Given the description of an element on the screen output the (x, y) to click on. 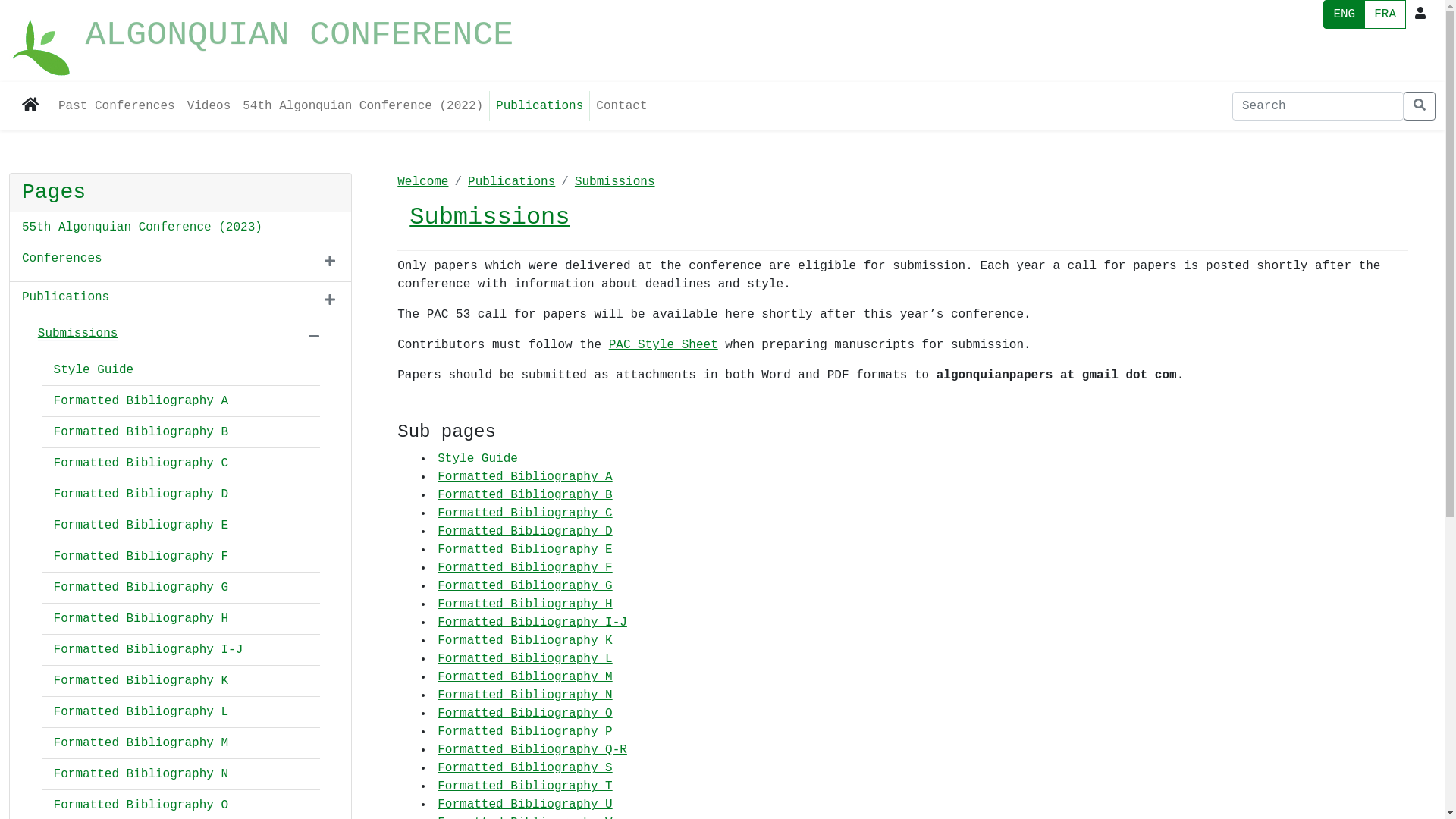
Formatted Bibliography I-J Element type: text (148, 649)
Formatted Bibliography M Element type: text (524, 677)
Style Guide Element type: text (477, 458)
Formatted Bibliography U Element type: text (524, 804)
Contact Element type: text (620, 106)
Formatted Bibliography O Element type: text (524, 713)
Videos Element type: text (209, 106)
Formatted Bibliography P Element type: text (524, 731)
Formatted Bibliography E Element type: text (140, 525)
Formatted Bibliography A Element type: text (524, 476)
Formatted Bibliography D Element type: text (140, 494)
Formatted Bibliography A Element type: text (140, 400)
Past Conferences Element type: text (116, 106)
Formatted Bibliography C Element type: text (524, 513)
FRA Element type: text (1384, 14)
Formatted Bibliography G Element type: text (524, 586)
Welcome Element type: text (422, 181)
Formatted Bibliography O Element type: text (140, 805)
Publications Element type: text (539, 106)
Formatted Bibliography B Element type: text (140, 432)
Formatted Bibliography L Element type: text (140, 711)
Formatted Bibliography M Element type: text (140, 742)
Formatted Bibliography N Element type: text (524, 695)
Style Guide Element type: text (93, 369)
Formatted Bibliography E Element type: text (524, 549)
Accueil Element type: text (42, 40)
Submissions Element type: text (77, 333)
Formatted Bibliography N Element type: text (140, 774)
Formatted Bibliography S Element type: text (524, 768)
Formatted Bibliography C Element type: text (140, 463)
Submissions Element type: text (489, 217)
Formatted Bibliography G Element type: text (140, 587)
Formatted Bibliography K Element type: text (524, 640)
Submissions Element type: text (614, 181)
54th Algonquian Conference (2022) Element type: text (362, 106)
Formatted Bibliography I-J Element type: text (532, 622)
Formatted Bibliography B Element type: text (524, 495)
Formatted Bibliography Q-R Element type: text (532, 749)
Formatted Bibliography F Element type: text (524, 567)
Formatted Bibliography F Element type: text (140, 556)
55th Algonquian Conference (2023) Element type: text (141, 227)
Formatted Bibliography H Element type: text (140, 618)
Formatted Bibliography L Element type: text (524, 658)
PAC Style Sheet Element type: text (663, 344)
Formatted Bibliography D Element type: text (524, 531)
ENG Element type: text (1344, 14)
Publications Element type: text (65, 297)
Formatted Bibliography H Element type: text (524, 604)
Conferences Element type: text (61, 258)
Formatted Bibliography T Element type: text (524, 786)
Formatted Bibliography K Element type: text (140, 680)
Publications Element type: text (511, 181)
